Given the description of an element on the screen output the (x, y) to click on. 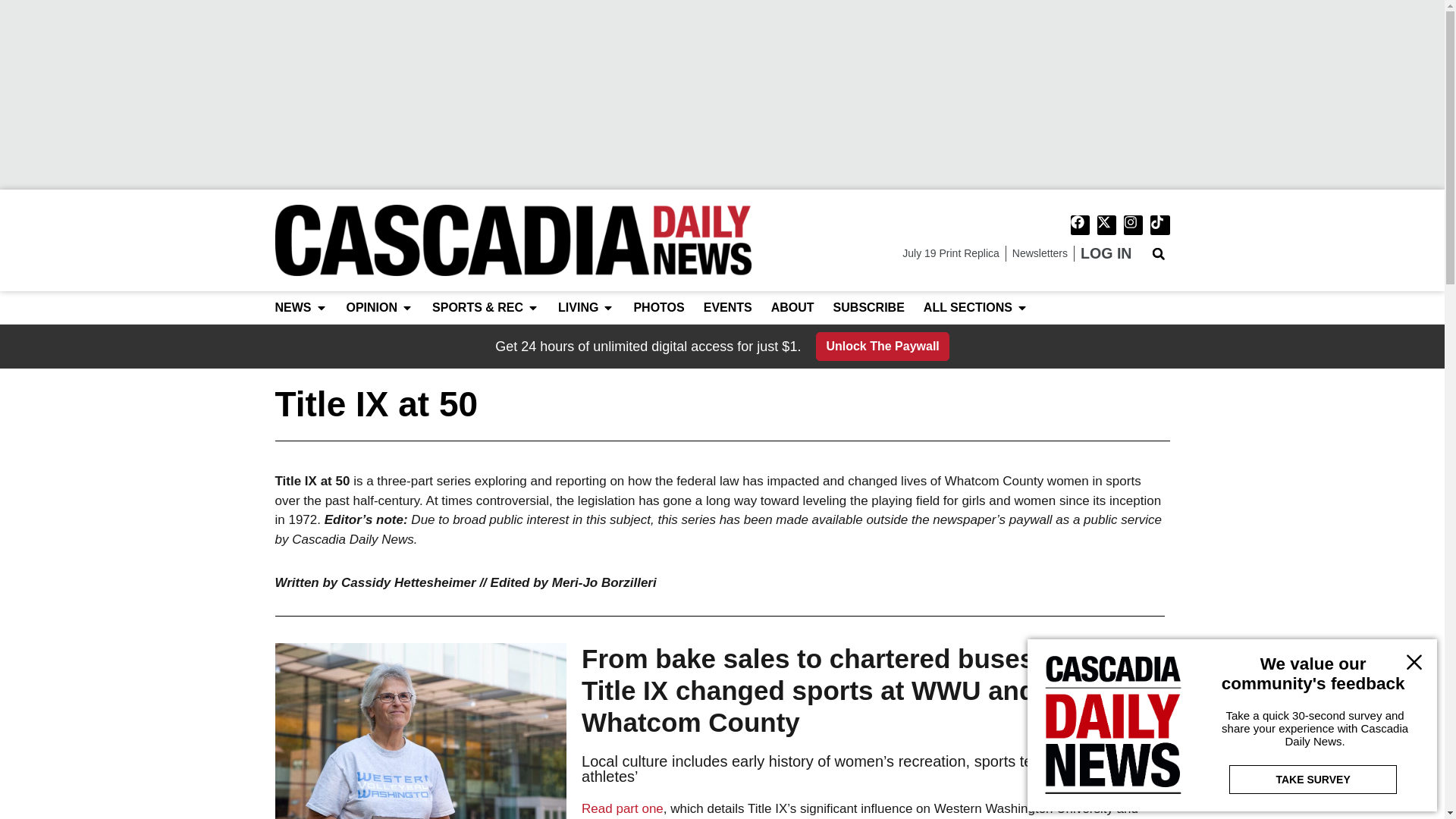
NEWS (293, 307)
July 19 Print Replica (950, 253)
LOG IN (1106, 253)
Popup CTA (1232, 725)
OPINION (371, 307)
Newsletters (1039, 253)
